Given the description of an element on the screen output the (x, y) to click on. 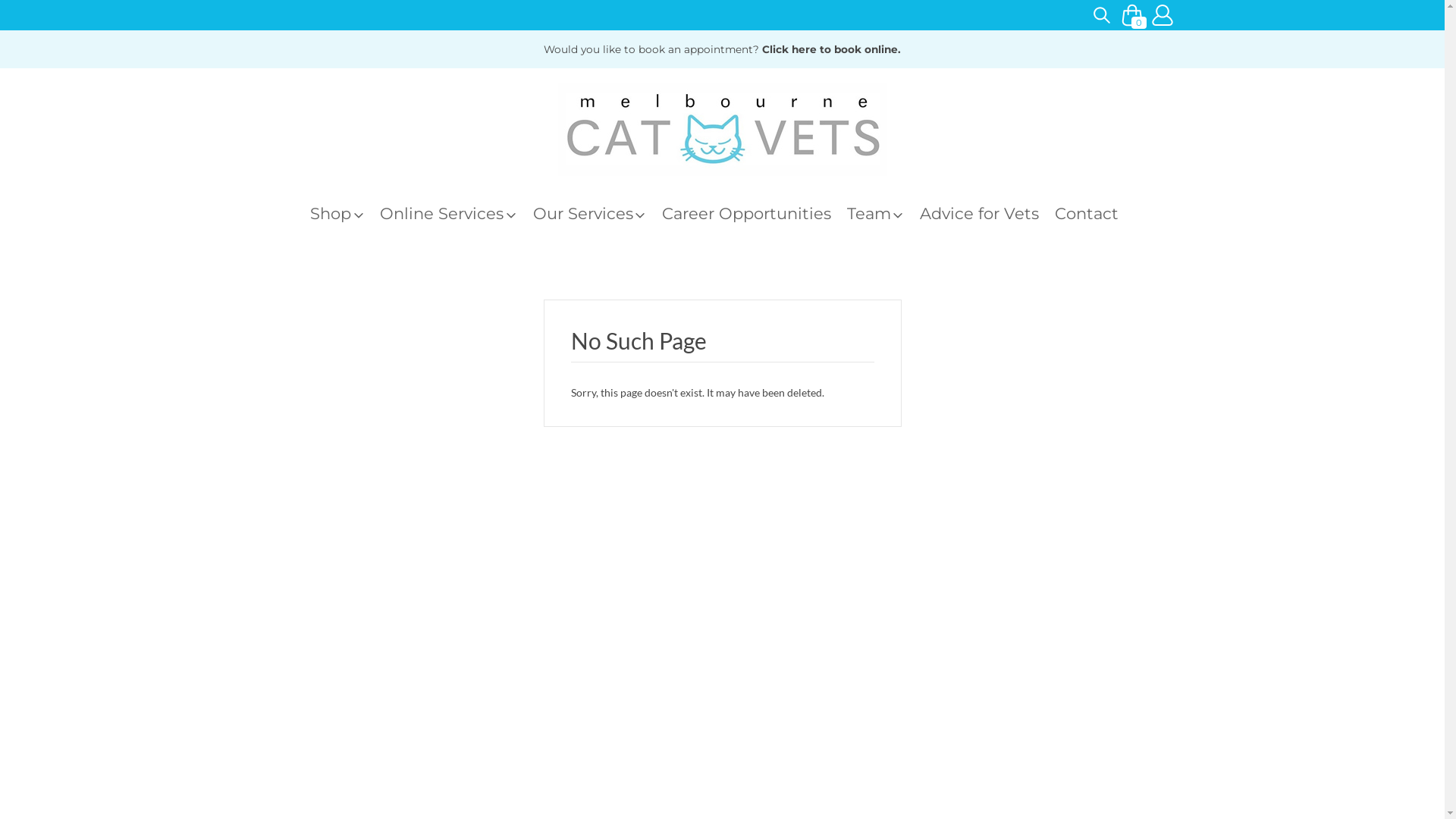
Profile Element type: hover (1161, 15)
Career Opportunities Element type: text (754, 212)
  Element type: text (1100, 15)
Team Element type: text (883, 212)
Online Services Element type: text (455, 212)
Shop Element type: text (344, 212)
Our Services Element type: text (596, 212)
Contact Element type: text (1094, 212)
Search Element type: hover (1100, 15)
  0 Element type: text (1131, 6)
Advice for Vets Element type: text (986, 212)
